Given the description of an element on the screen output the (x, y) to click on. 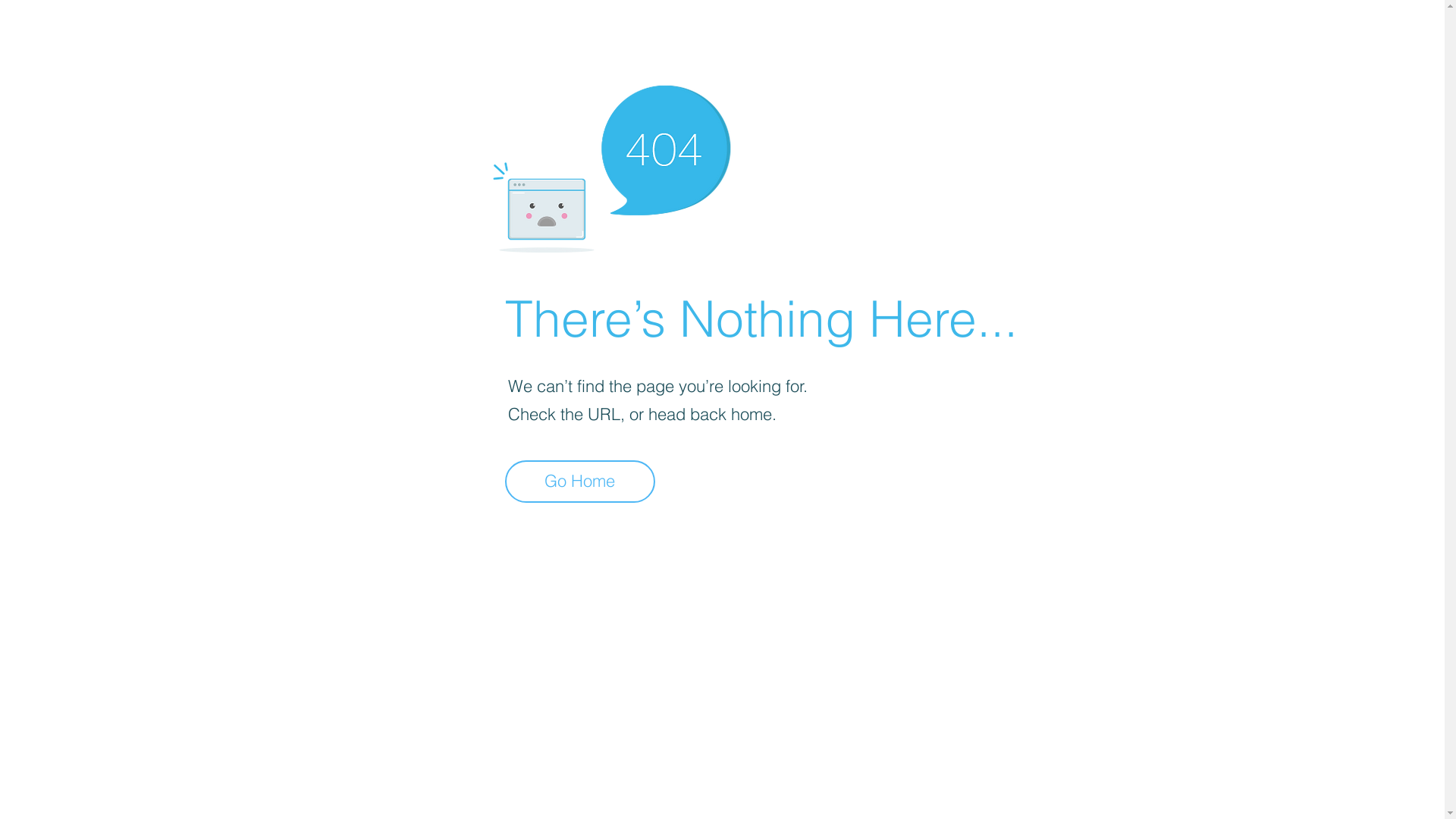
404-icon_2.png Element type: hover (610, 164)
Go Home Element type: text (580, 481)
